Given the description of an element on the screen output the (x, y) to click on. 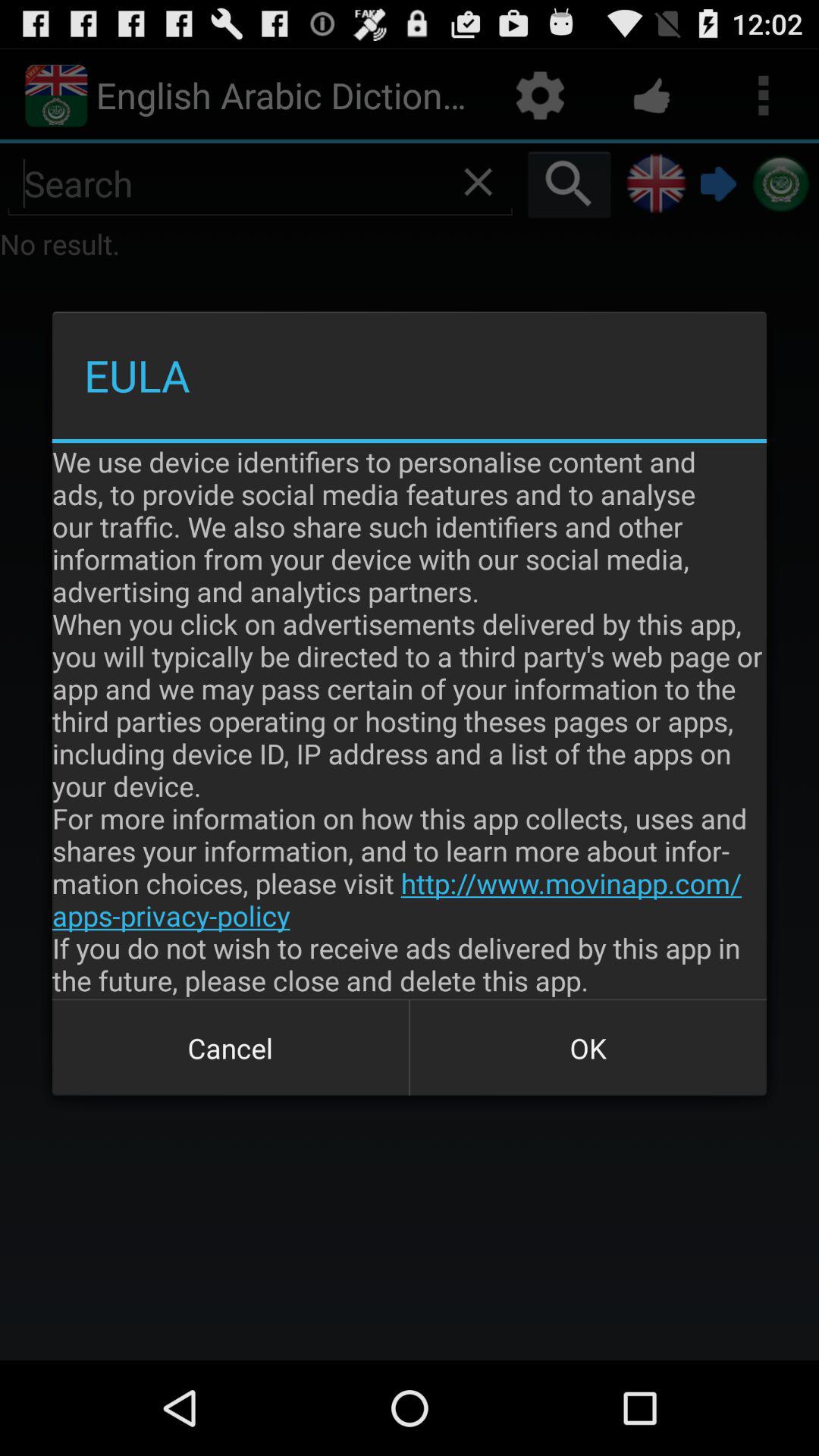
flip to the cancel icon (230, 1047)
